Given the description of an element on the screen output the (x, y) to click on. 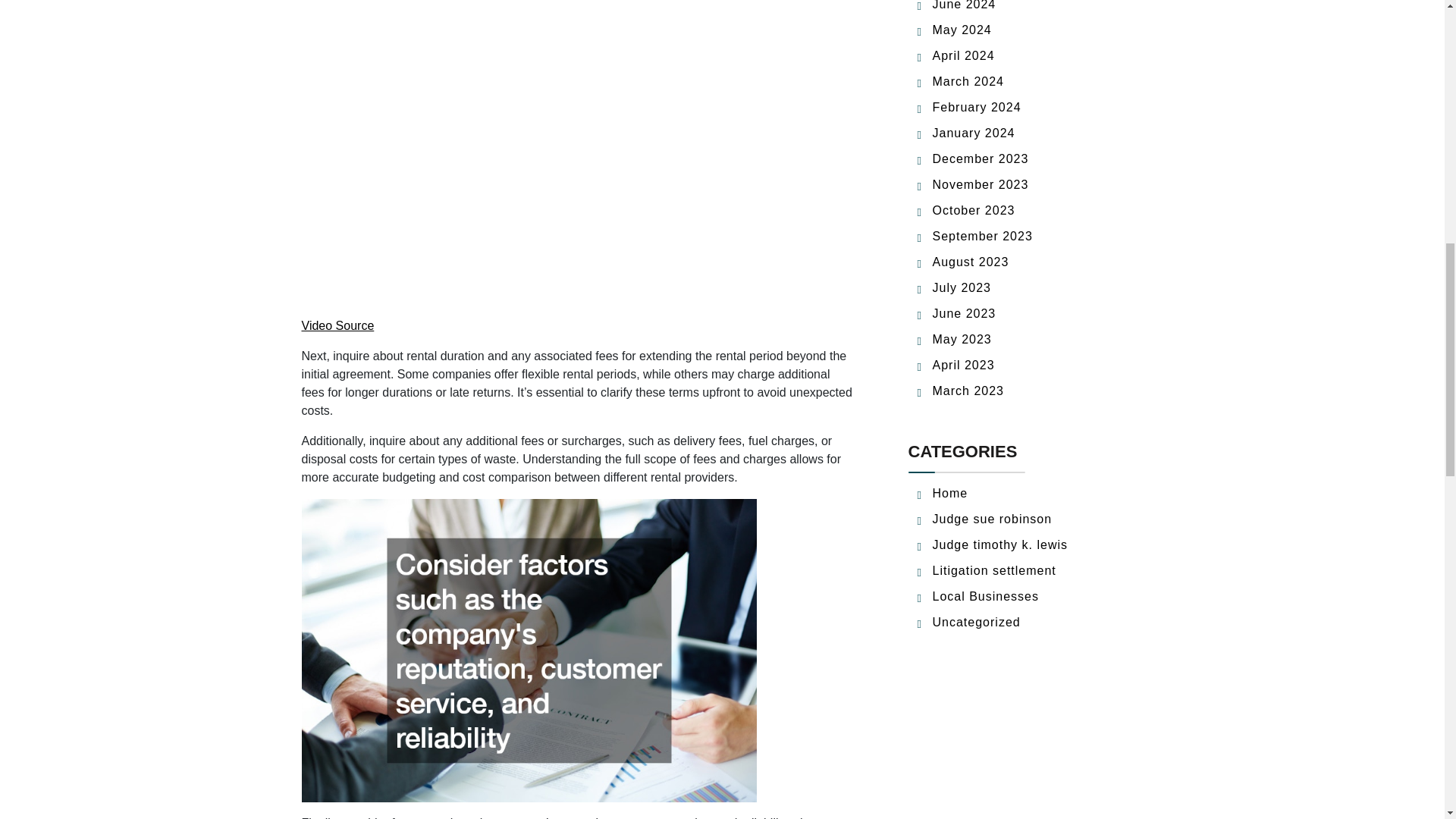
May 2024 (962, 29)
June 2024 (964, 5)
August 2023 (971, 261)
January 2024 (973, 132)
September 2023 (982, 236)
October 2023 (973, 210)
March 2024 (968, 81)
November 2023 (981, 184)
April 2024 (963, 55)
July 2023 (962, 287)
